Given the description of an element on the screen output the (x, y) to click on. 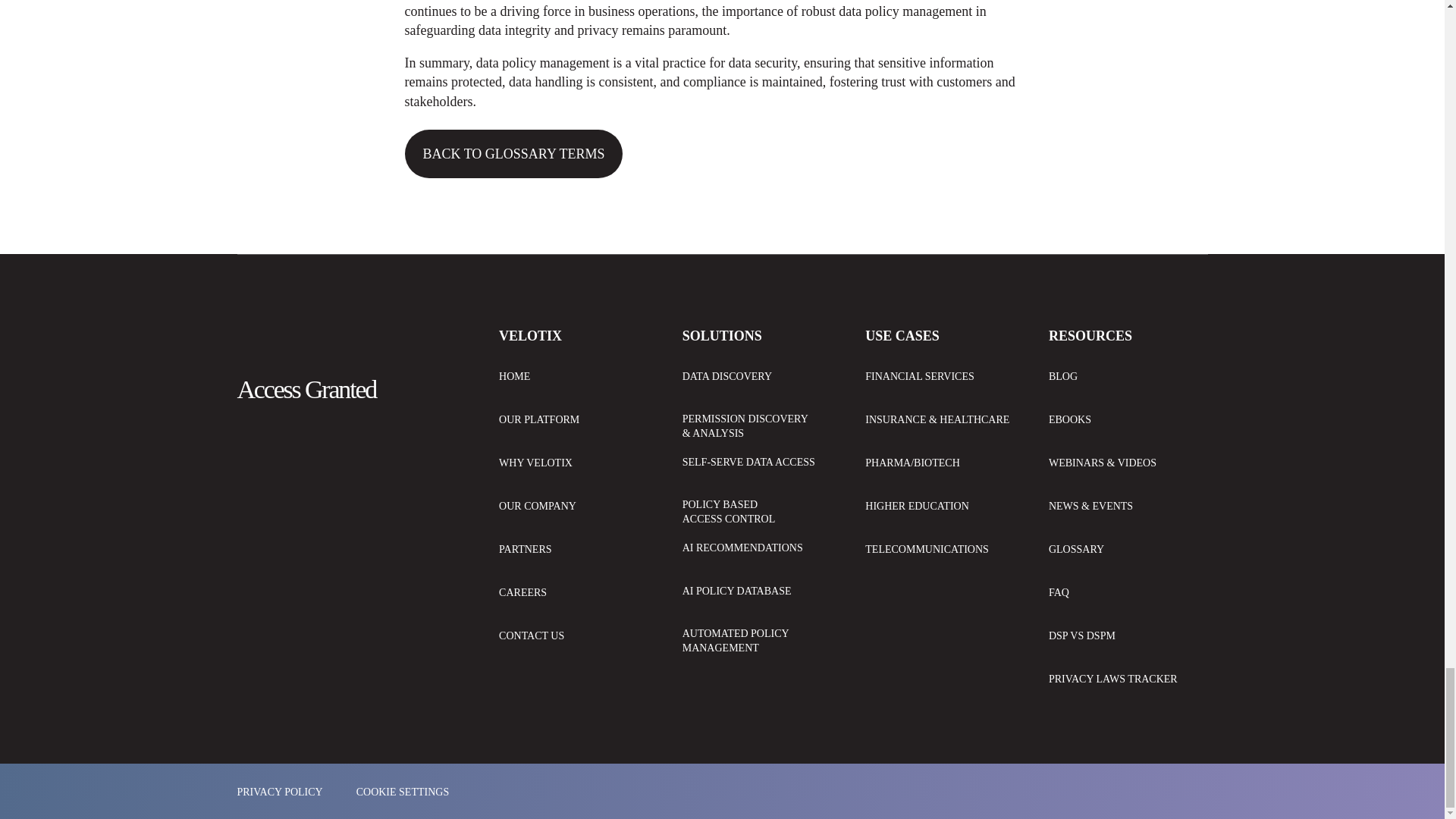
Twitter (293, 441)
ISO 27001 (263, 506)
LinkedIn (250, 441)
